Given the description of an element on the screen output the (x, y) to click on. 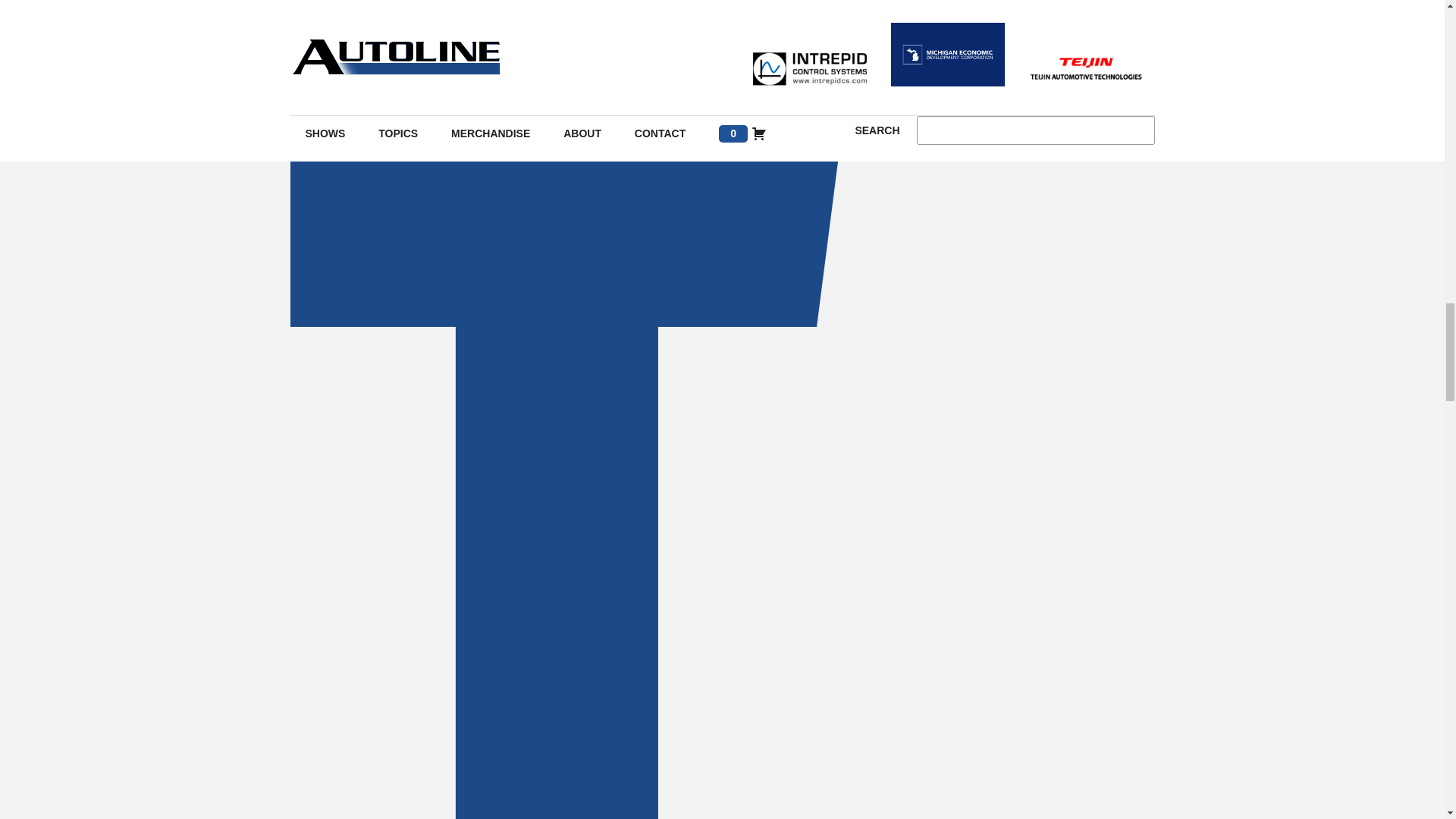
Facebook (574, 814)
